Given the description of an element on the screen output the (x, y) to click on. 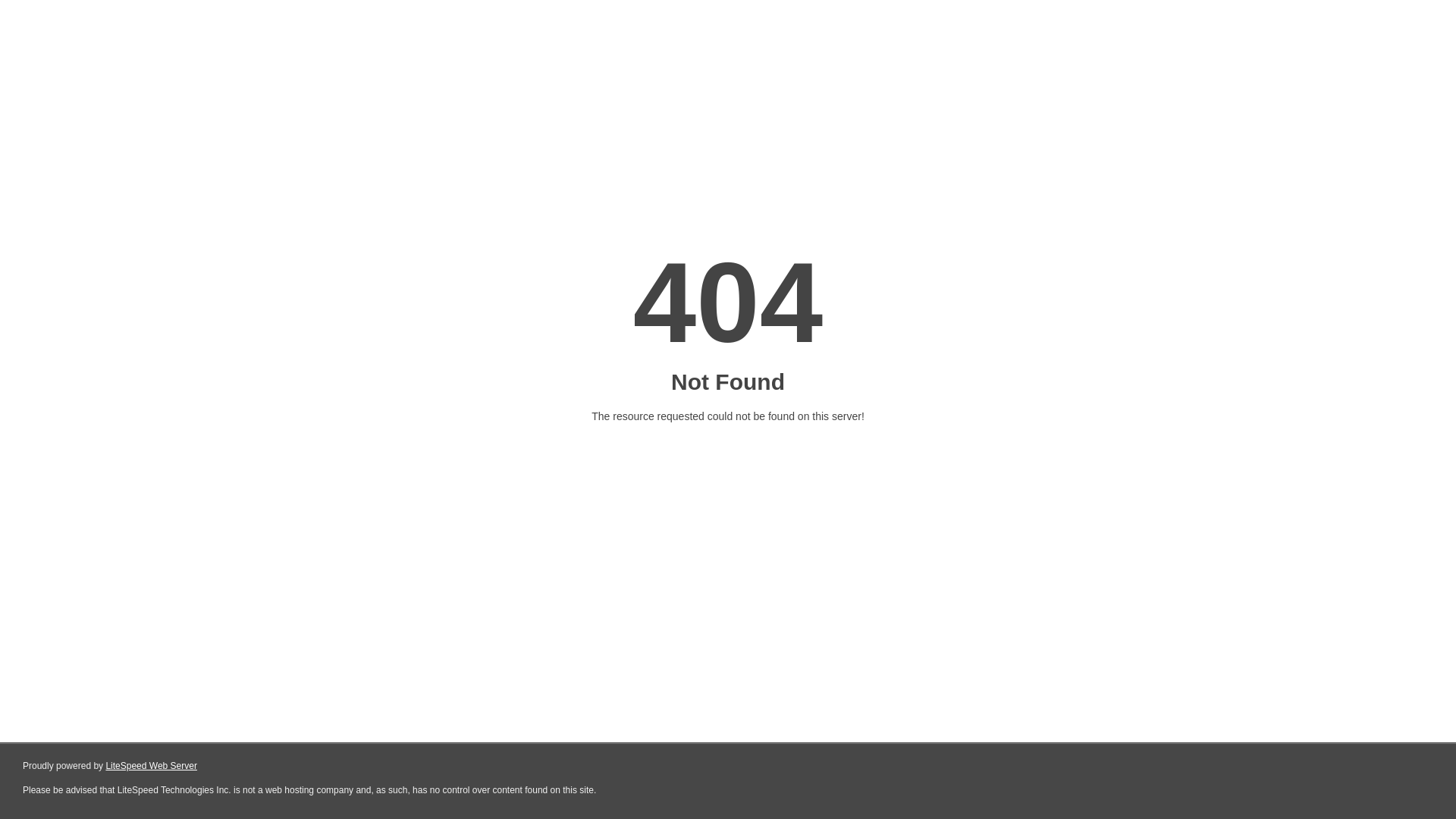
LiteSpeed Web Server Element type: text (151, 765)
